Given the description of an element on the screen output the (x, y) to click on. 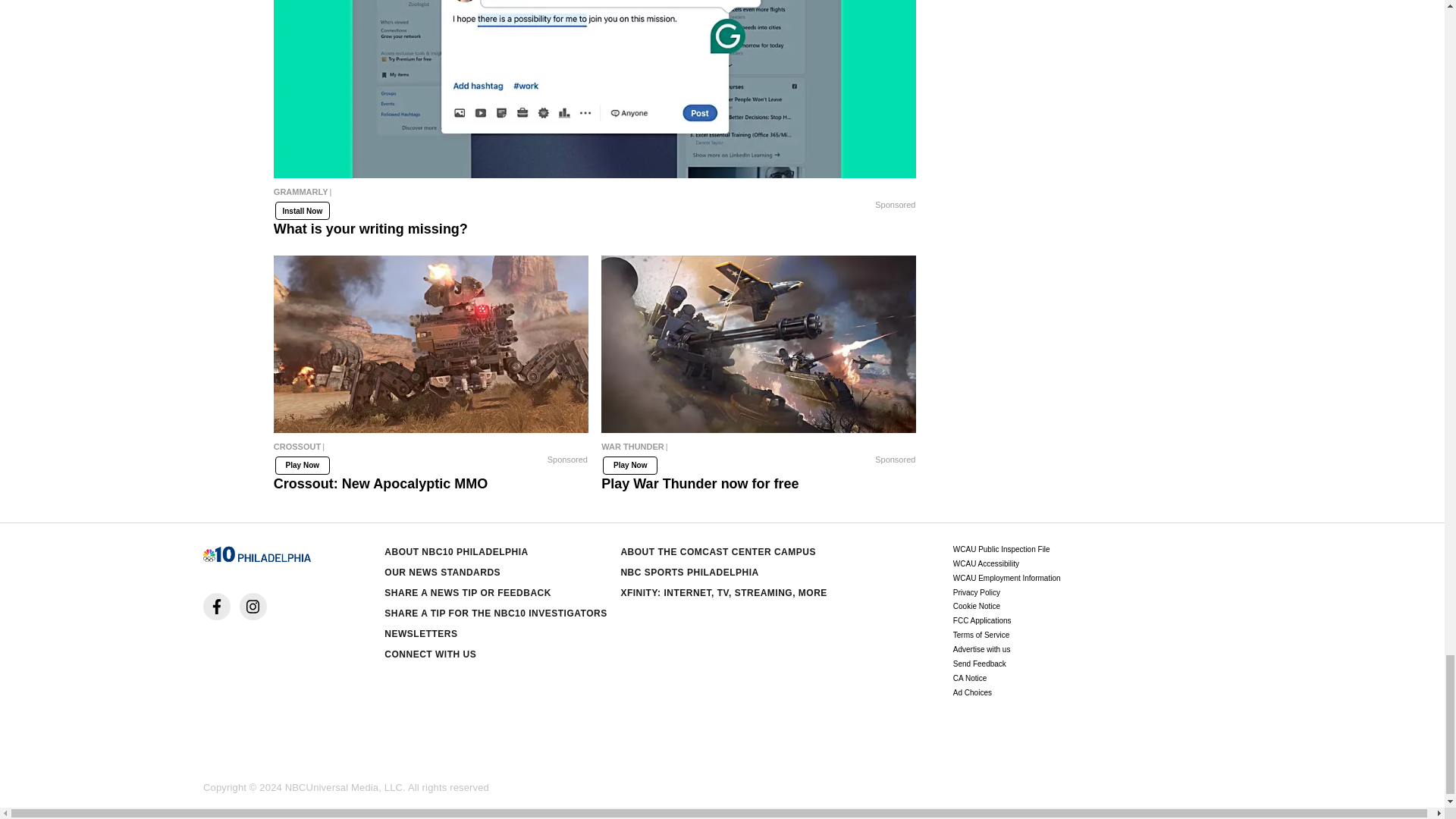
What is your writing missing? (595, 89)
Crossout: New Apocalyptic MMO (430, 450)
Play War Thunder now for free (758, 344)
Play War Thunder now for free (758, 450)
What is your writing missing? (595, 195)
Crossout: New Apocalyptic MMO (430, 344)
